Given the description of an element on the screen output the (x, y) to click on. 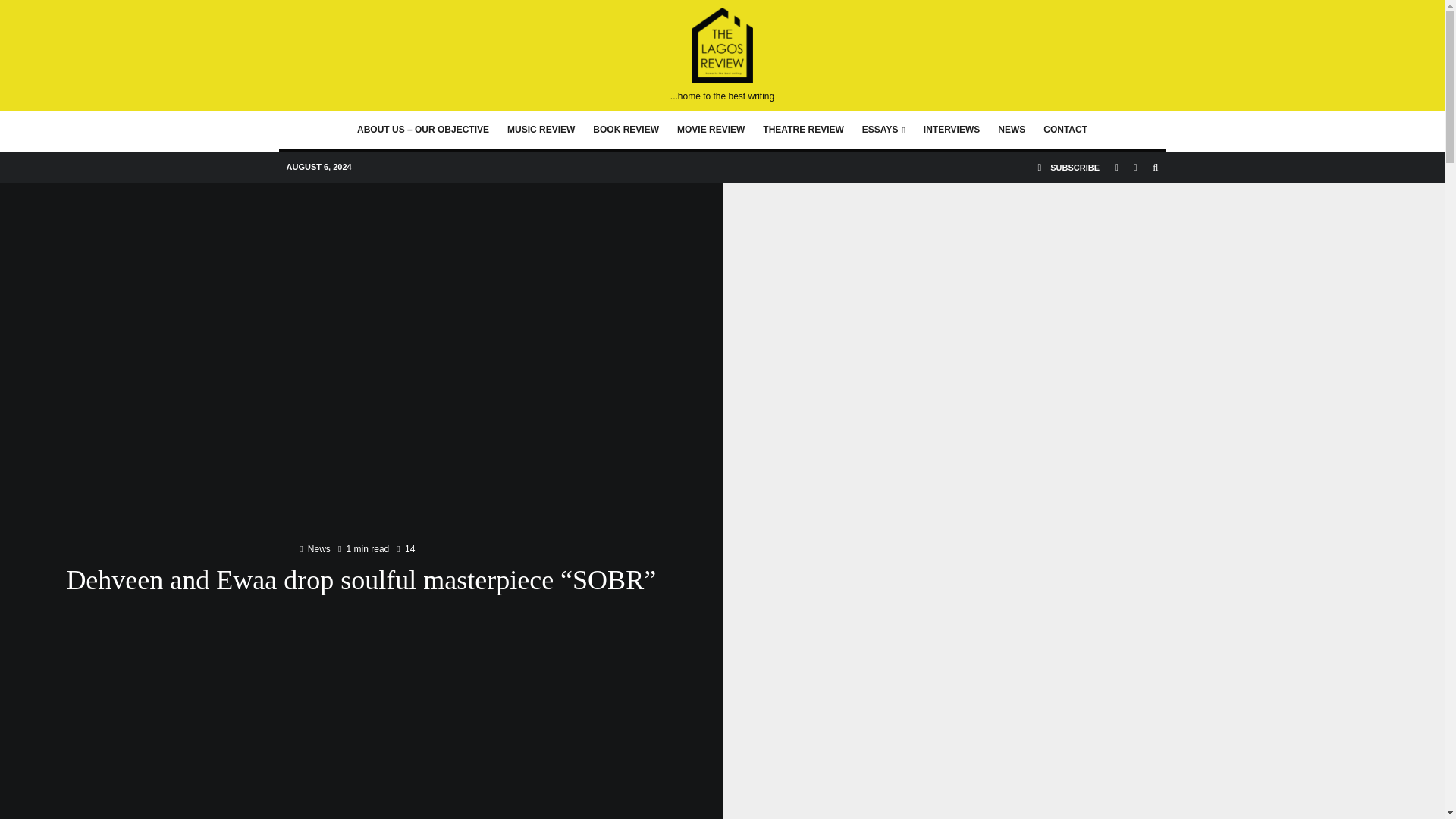
MOVIE REVIEW (711, 130)
THEATRE REVIEW (802, 130)
MUSIC REVIEW (540, 130)
BOOK REVIEW (625, 130)
...home to the best writing (721, 55)
